Given the description of an element on the screen output the (x, y) to click on. 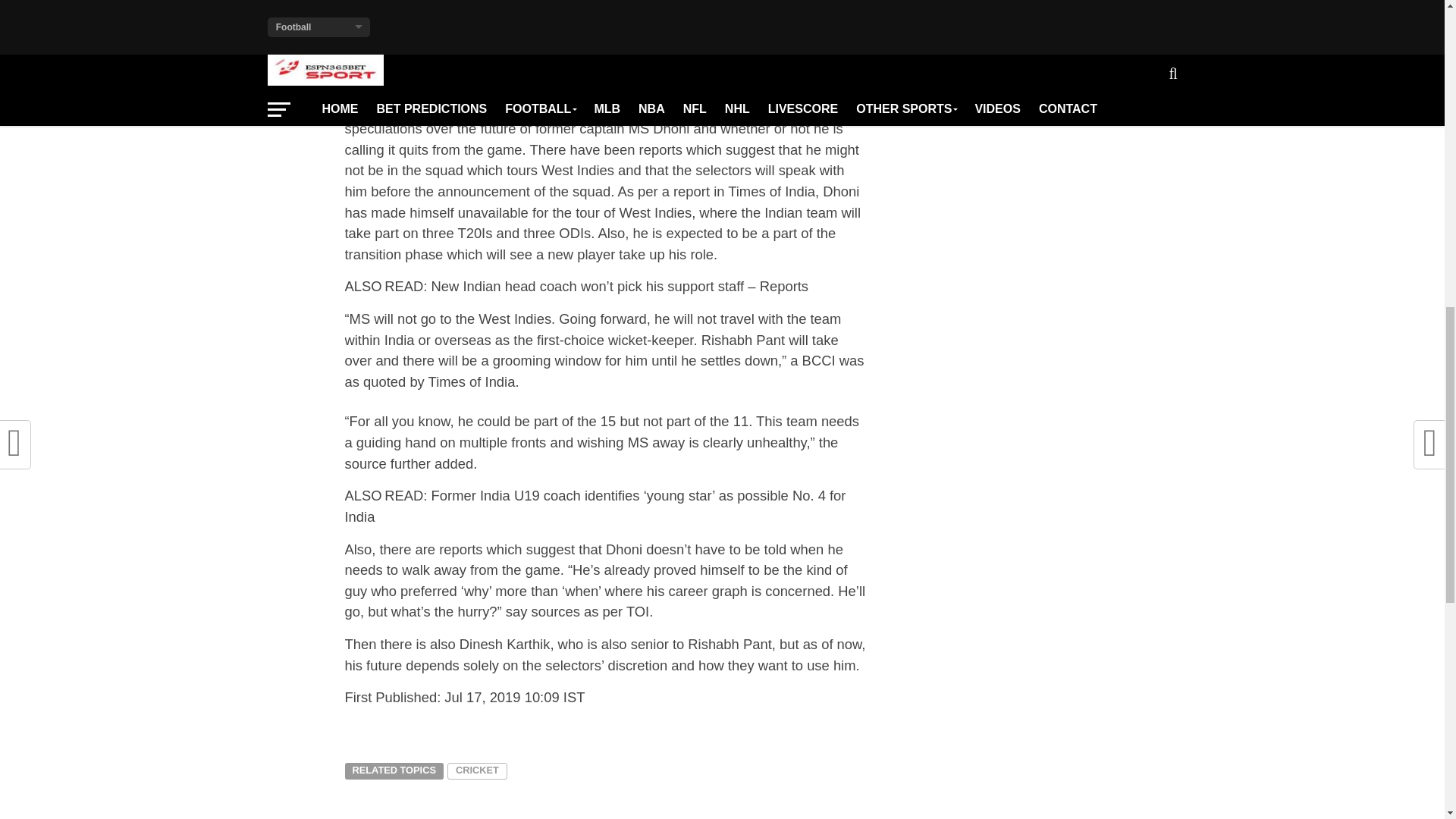
Advertisement (605, 43)
